Given the description of an element on the screen output the (x, y) to click on. 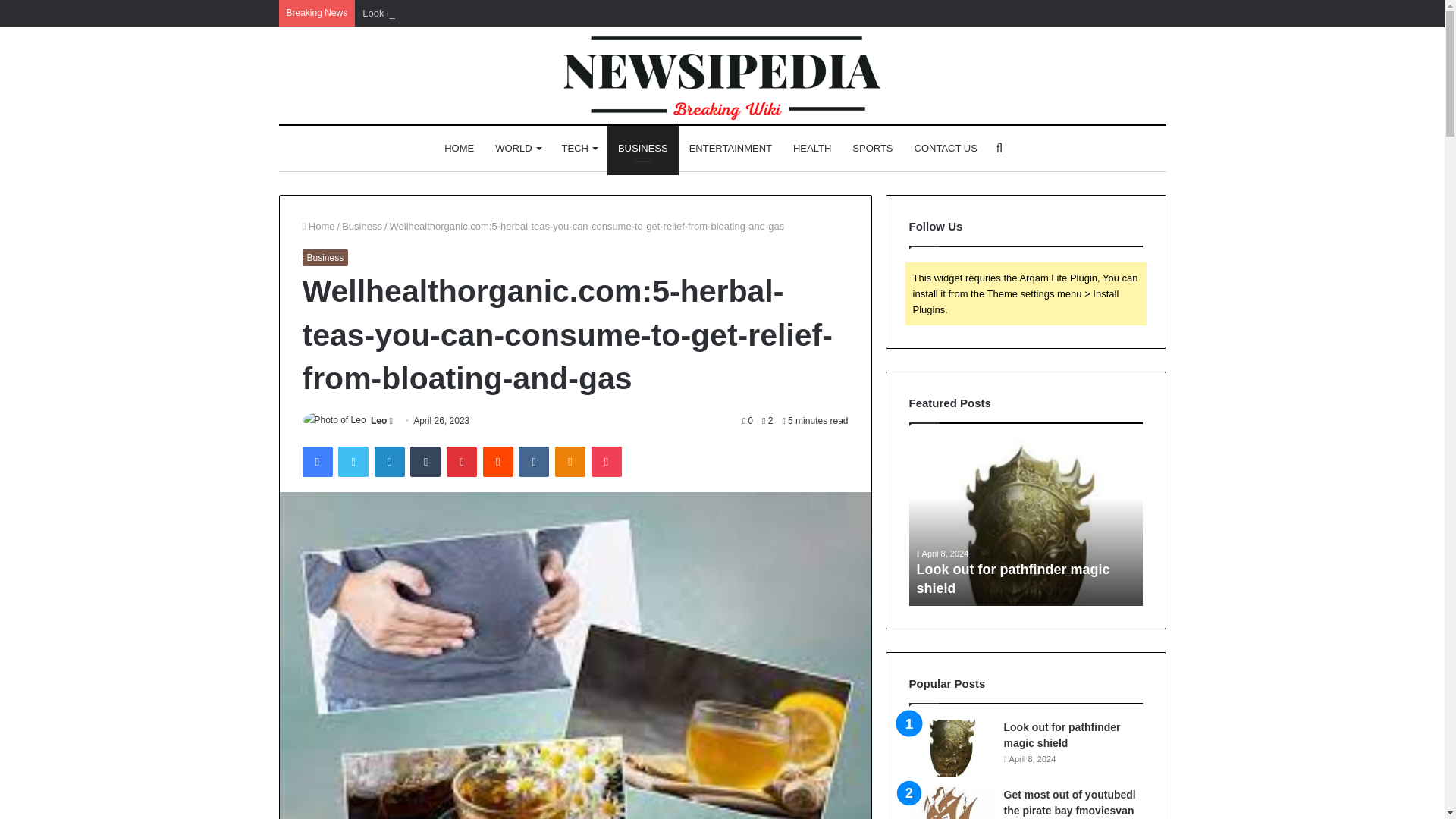
Facebook (316, 461)
TECH (579, 148)
Home (317, 225)
Reddit (498, 461)
BUSINESS (642, 148)
Leo (379, 420)
ENTERTAINMENT (730, 148)
Business (324, 257)
WORLD (517, 148)
Odnoklassniki (569, 461)
NewsiPedia (721, 74)
HOME (458, 148)
VKontakte (533, 461)
VKontakte (533, 461)
Look out for pathfinder magic shield (440, 12)
